Given the description of an element on the screen output the (x, y) to click on. 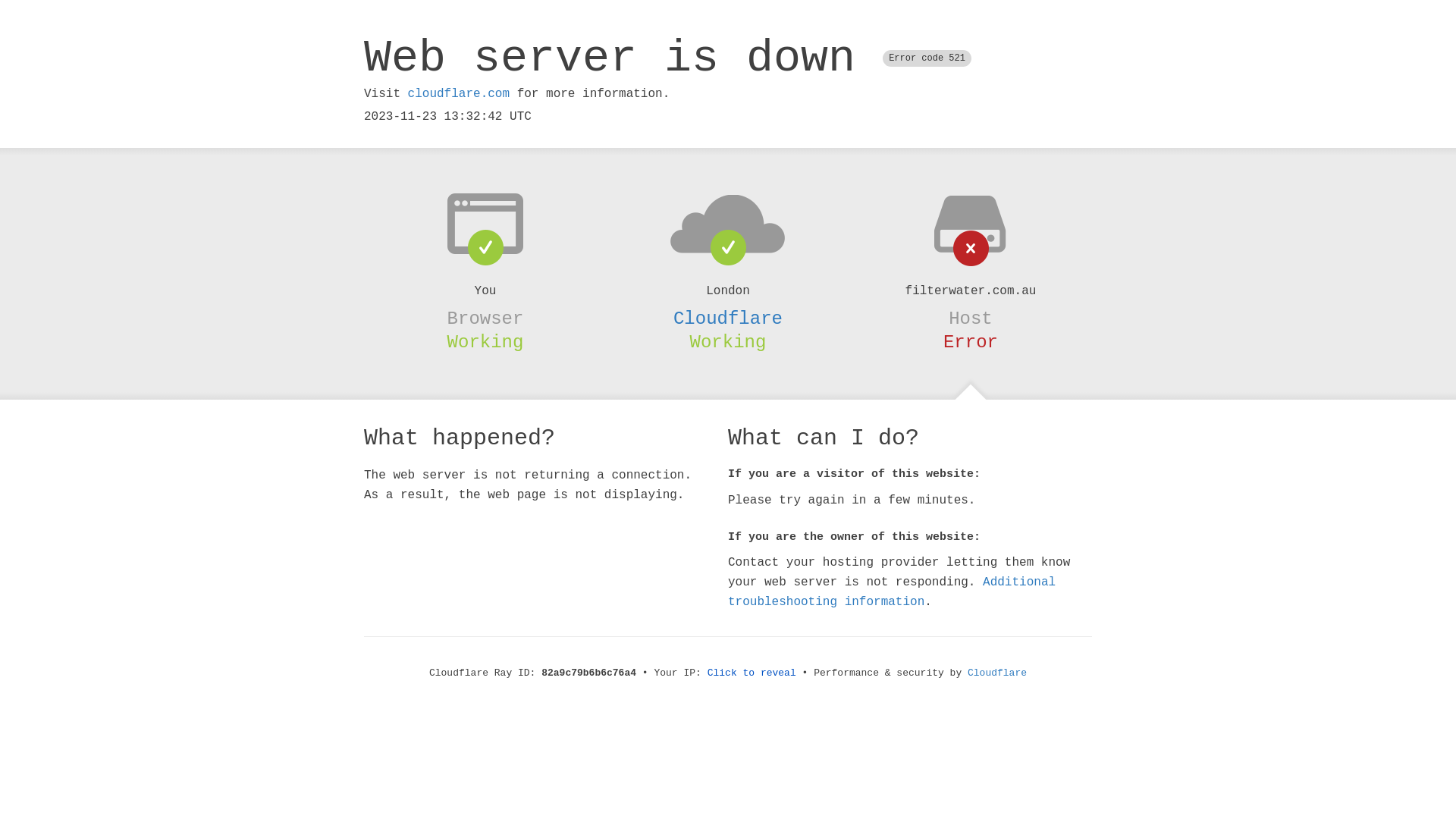
cloudflare.com Element type: text (458, 93)
Additional troubleshooting information Element type: text (891, 591)
Click to reveal Element type: text (751, 672)
Cloudflare Element type: text (727, 318)
Cloudflare Element type: text (996, 672)
